Given the description of an element on the screen output the (x, y) to click on. 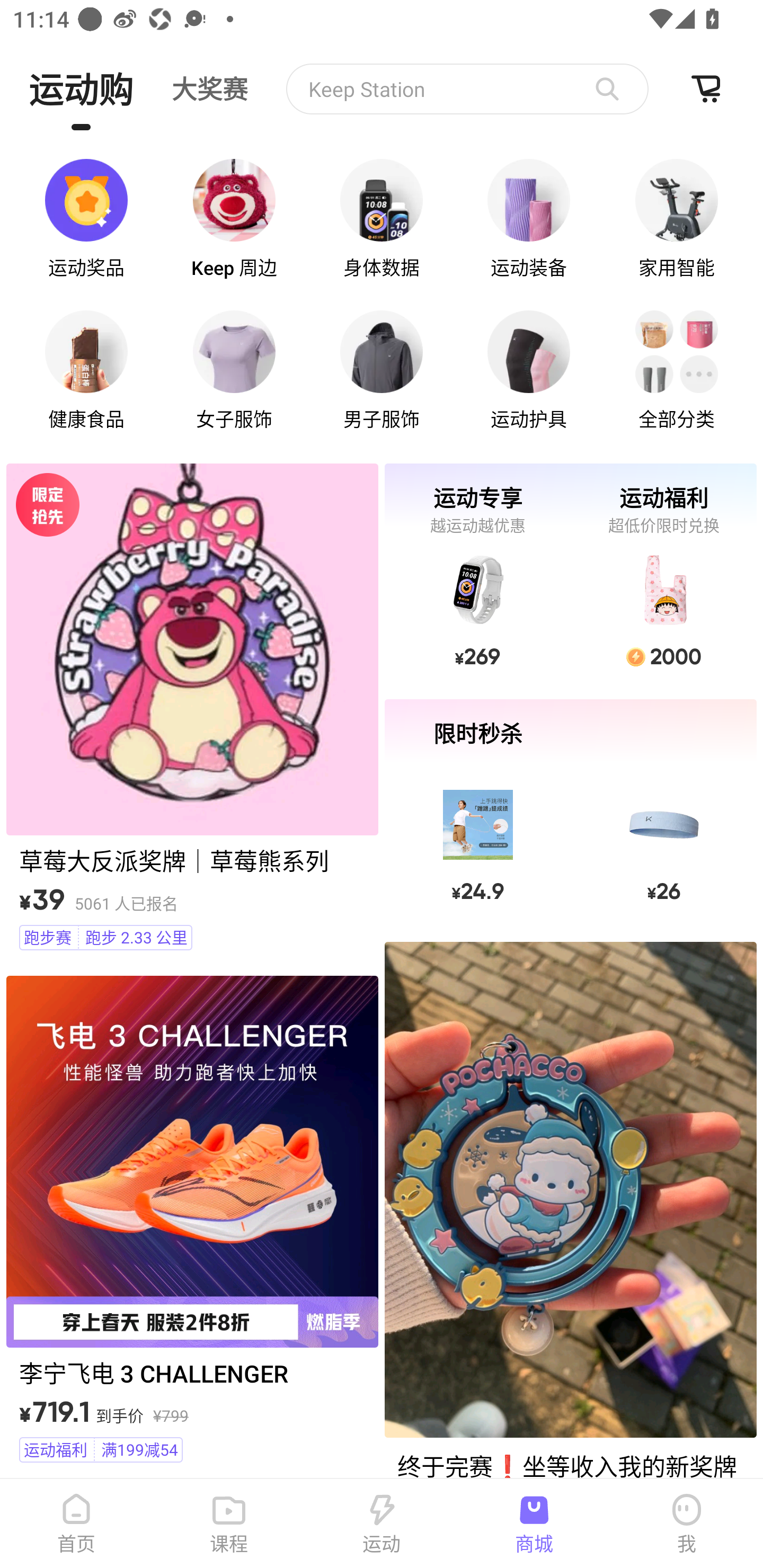
运动购 (80, 88)
大奖赛 (209, 88)
智能手环新品上市 (467, 89)
运动奖品 (86, 219)
Keep 周边 (233, 219)
身体数据 (381, 219)
运动装备 (528, 219)
家用智能 (676, 219)
健康食品 (86, 370)
女子服饰 (233, 370)
男子服饰 (381, 370)
运动护具 (528, 370)
全部分类 (676, 370)
草莓大反派奖牌｜草莓熊系列 ¥ 39 5061 人已报名 跑步赛 跑步 2.33 公里 (192, 710)
运动专享 越运动越优惠 ¥269 (477, 575)
运动福利 超低价限时兑换 2000 (663, 575)
限时秒杀 ¥24.9 ¥26 (570, 811)
李宁飞电 3 CHALLENGER ¥ 719.1 到手价 ¥799 运动福利 满199减54 (192, 1222)
首页 (76, 1523)
课程 (228, 1523)
运动 (381, 1523)
商城 (533, 1523)
我 (686, 1523)
